Given the description of an element on the screen output the (x, y) to click on. 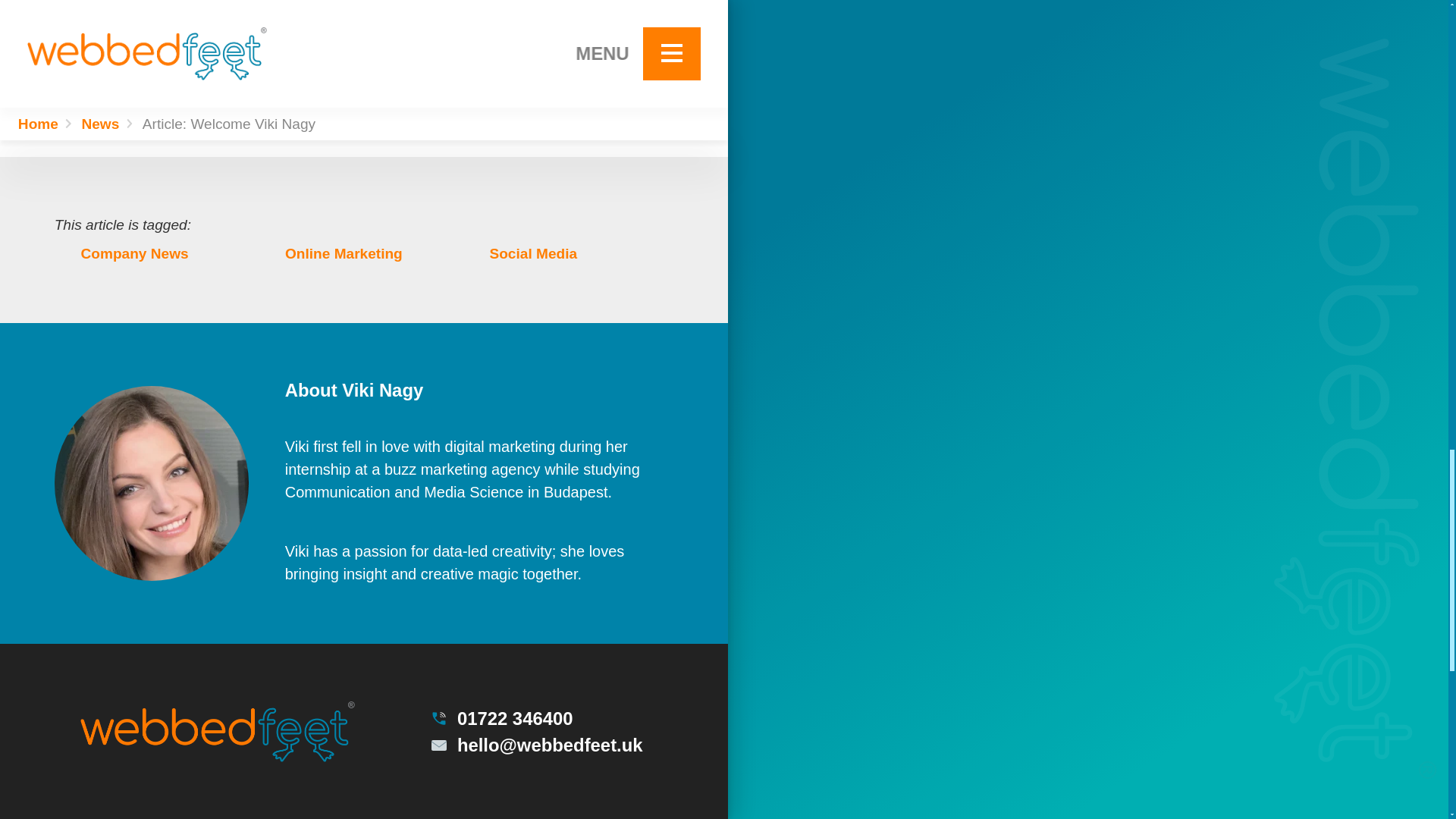
Online Marketing (361, 253)
Company News (157, 253)
Webbed Feet, web developers in Salisbury, Wiltshire (216, 731)
RETURN TO NEWS (559, 68)
Social Media (564, 253)
Viki Nagy (151, 482)
01722 346400 (535, 718)
